Given the description of an element on the screen output the (x, y) to click on. 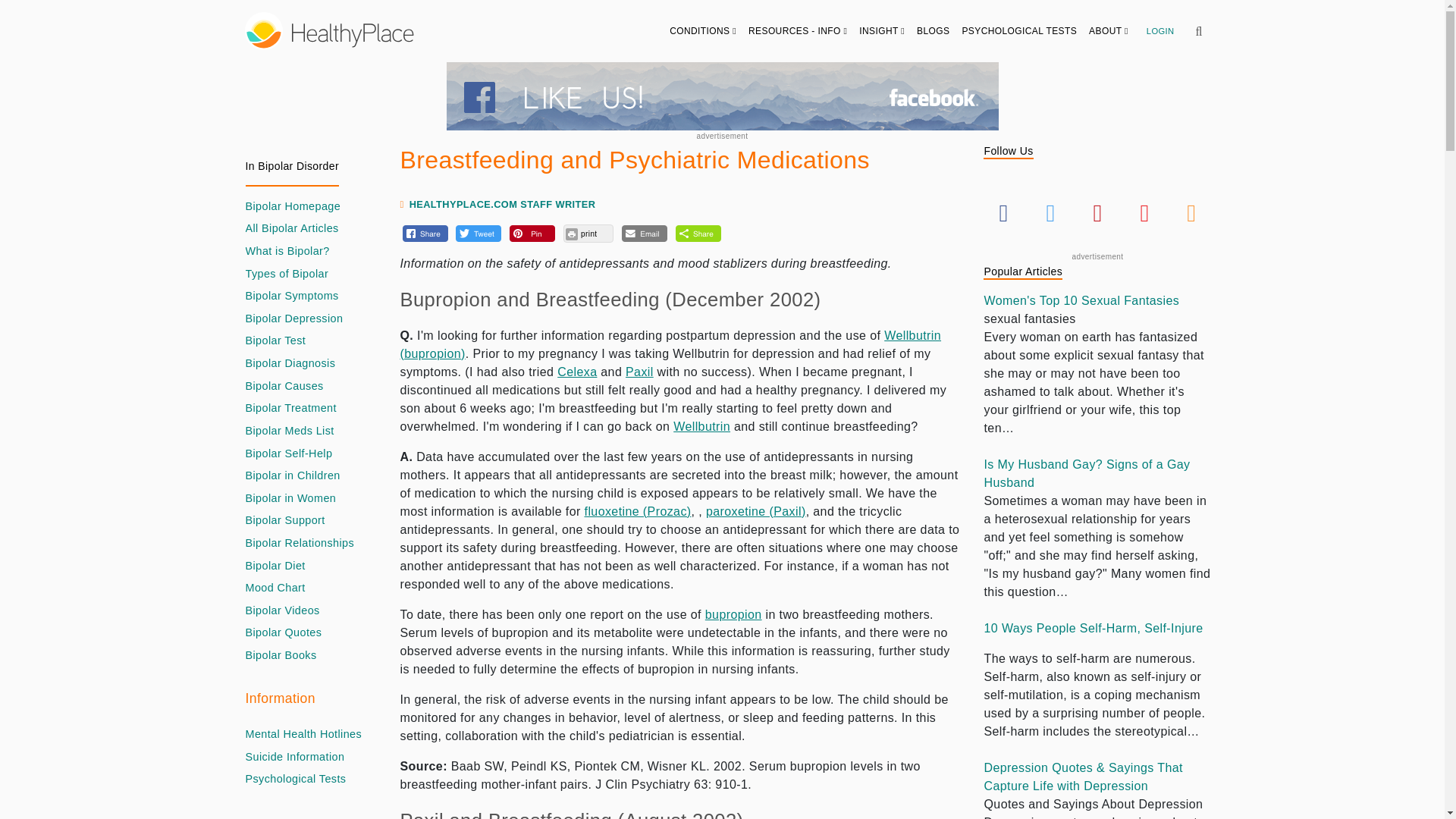
Bipolar Relationships: What Makes Them So Challenging? (300, 543)
Quotes on Bipolar Disorder (283, 632)
What is Bipolar Depression? Bipolar Depression vs Depression (294, 319)
What Is Bipolar Disorder Self-Help and Is It Really Helpful? (289, 453)
Mental Health Hotline Numbers and Referral Resources (304, 734)
All Bipolar Disorder Articles on HealthyPlace (292, 228)
CONDITIONS (702, 31)
Bipolar Disorder Symptoms: How to Tell If You Have Bipolar (292, 296)
Bipolar Disorder in Children: Signs, Symptoms, Treatment (293, 475)
Bipolar Diet: How Different Foods Affect Bipolar Symptoms (275, 565)
How Bipolar Disorder Symptoms Affect Women Uniquely (291, 498)
What Are the Types of Bipolar Disorder? (287, 274)
Join our Facebook community for mental health support (721, 96)
